Given the description of an element on the screen output the (x, y) to click on. 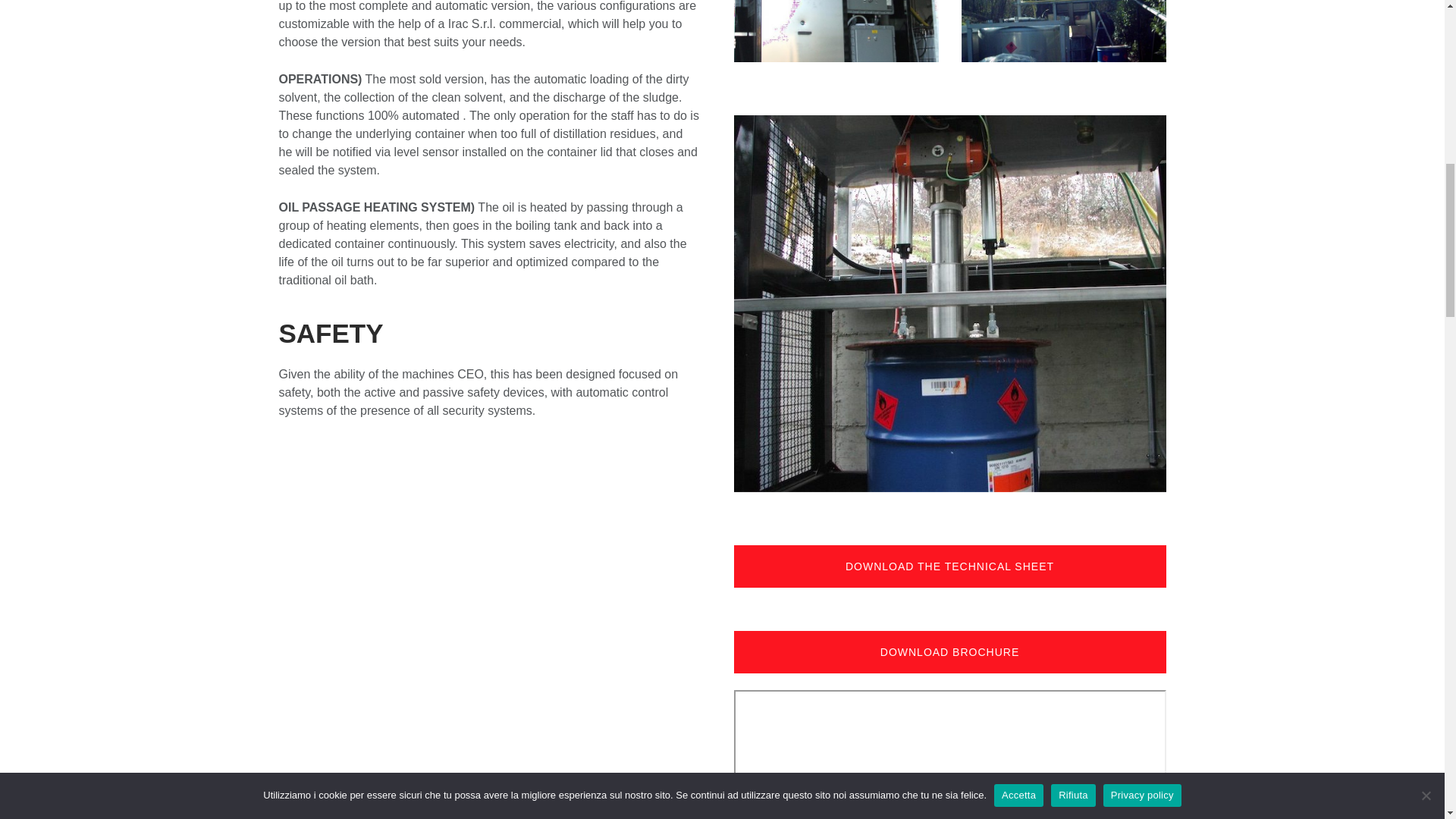
Carta Stampa 007 (1063, 31)
DOWNLOAD BROCHURE (949, 651)
DSCF0494 (836, 31)
DOWNLOAD THE TECHNICAL SHEET (949, 566)
MAV - Impianto di rigenerazione solvente (949, 754)
